Given the description of an element on the screen output the (x, y) to click on. 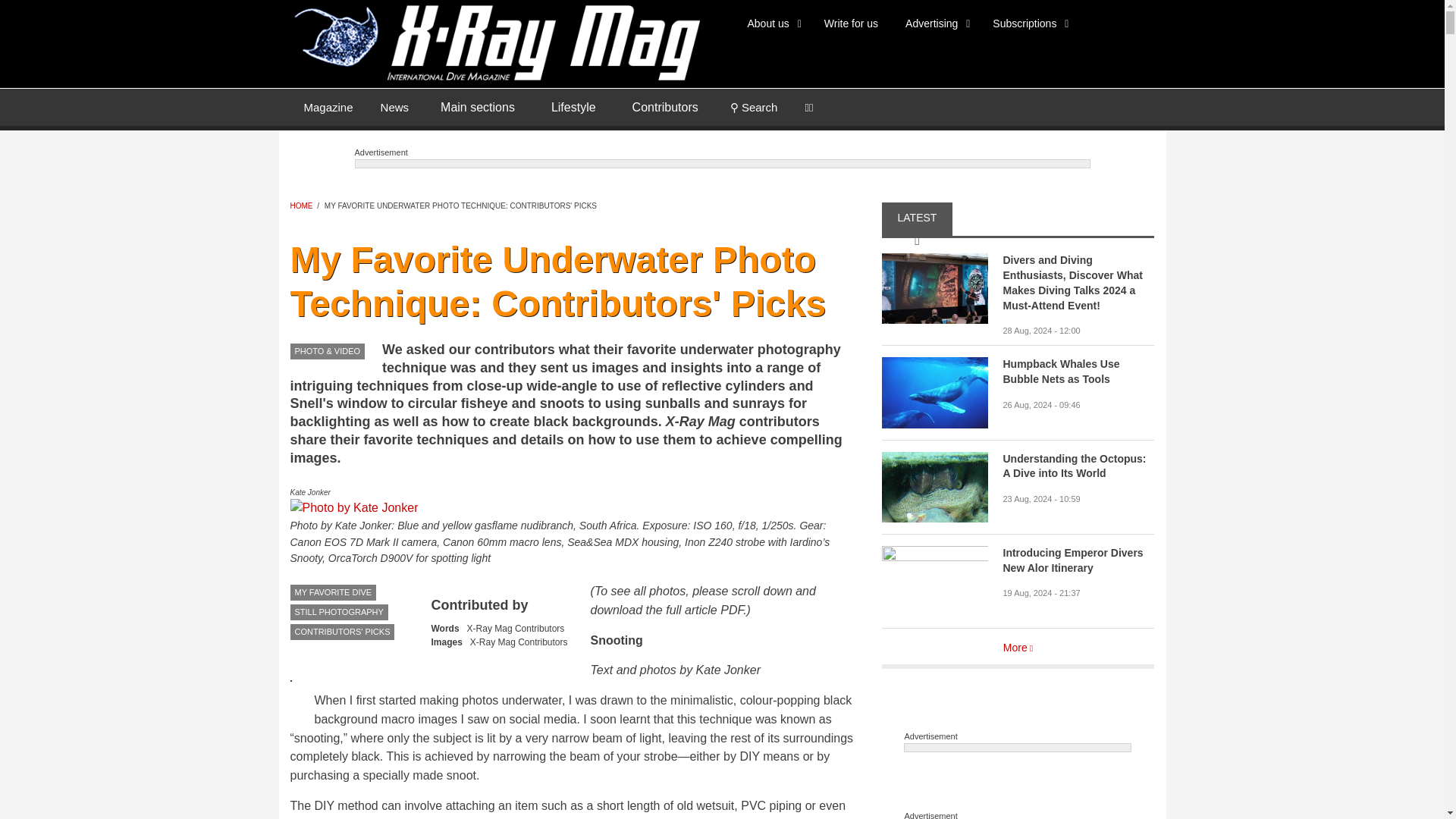
Advertising (934, 23)
Magazine (327, 106)
About us (771, 23)
News (394, 106)
Advertising and promotions (934, 23)
Home (493, 41)
Write for us (850, 23)
Main sections (477, 107)
Back issues (327, 106)
